Given the description of an element on the screen output the (x, y) to click on. 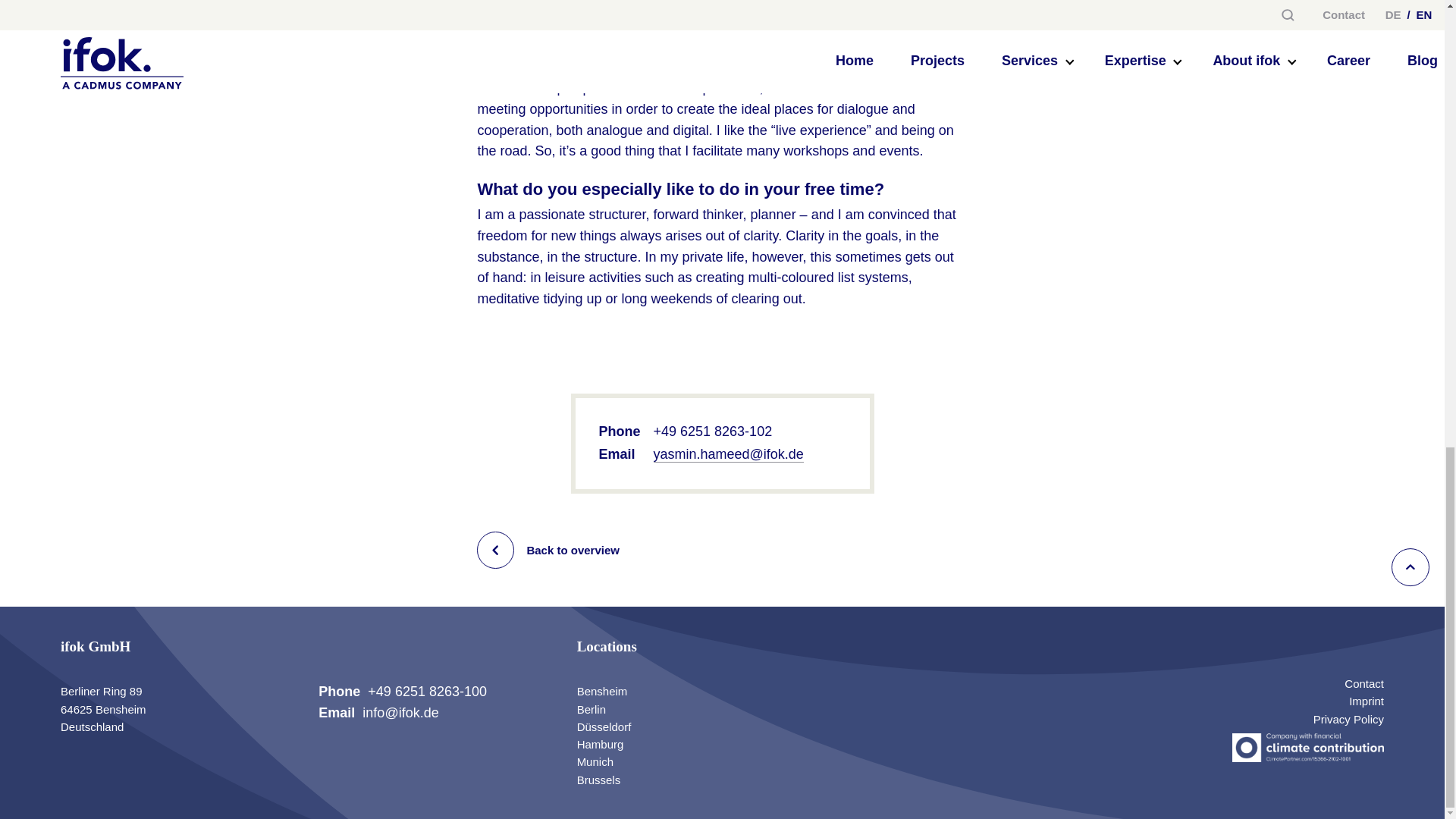
Back to top (1410, 566)
Back to overview (721, 549)
